Given the description of an element on the screen output the (x, y) to click on. 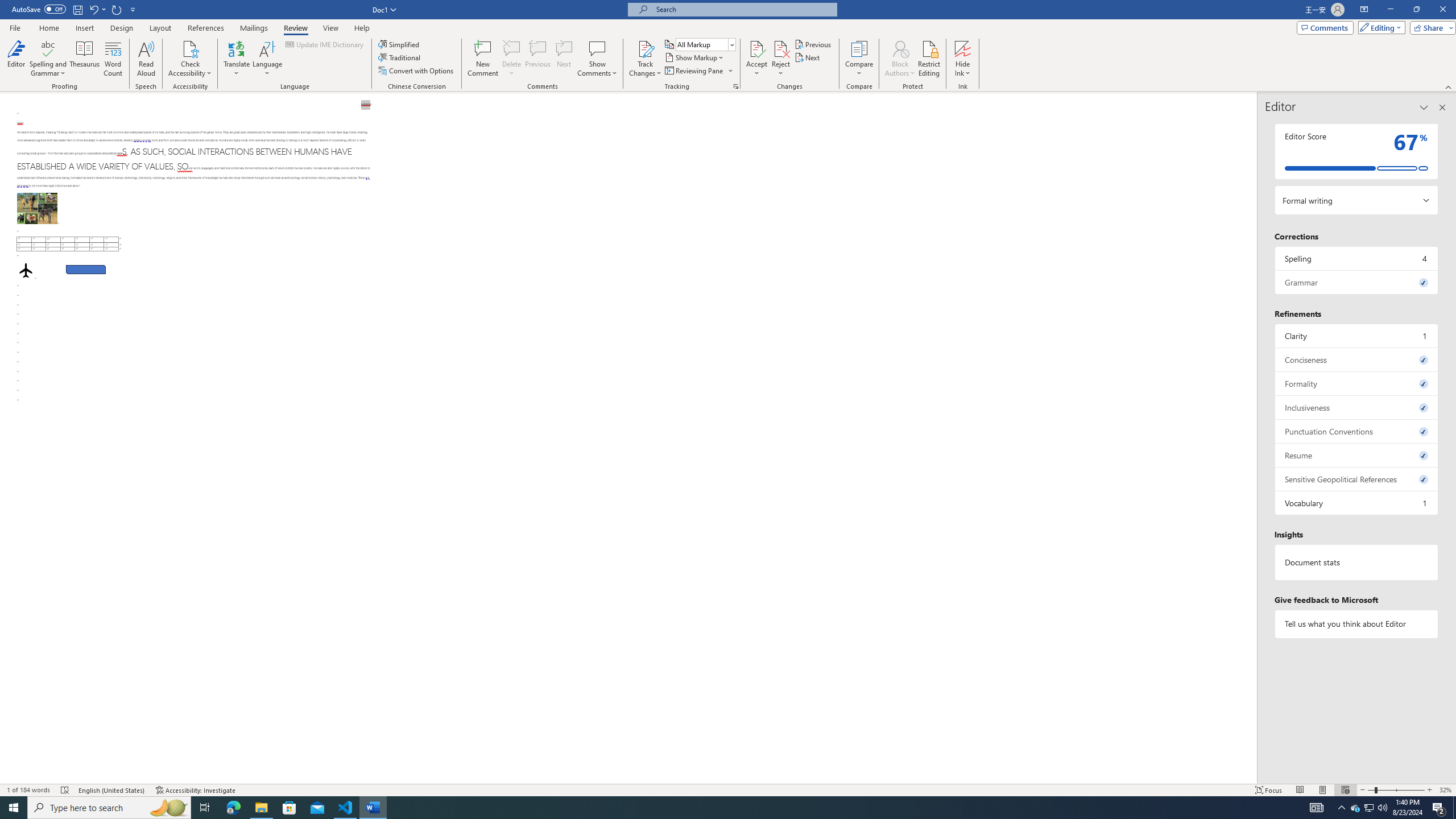
Word Count 1 of 184 words (28, 790)
Reject (780, 58)
Undo Paragraph Alignment (96, 9)
Block Authors (900, 58)
Conciseness, 0 issues. Press space or enter to review items. (1356, 359)
File Tab (15, 27)
Editing (1379, 27)
Customize Quick Access Toolbar (133, 9)
Accessibility Checker Accessibility: Investigate (195, 790)
Insert (83, 28)
Rectangle: Diagonal Corners Snipped 2 (85, 269)
Undo Paragraph Alignment (92, 9)
Simplified (400, 44)
Morphological variation in six dogs (36, 208)
Word Count (113, 58)
